Given the description of an element on the screen output the (x, y) to click on. 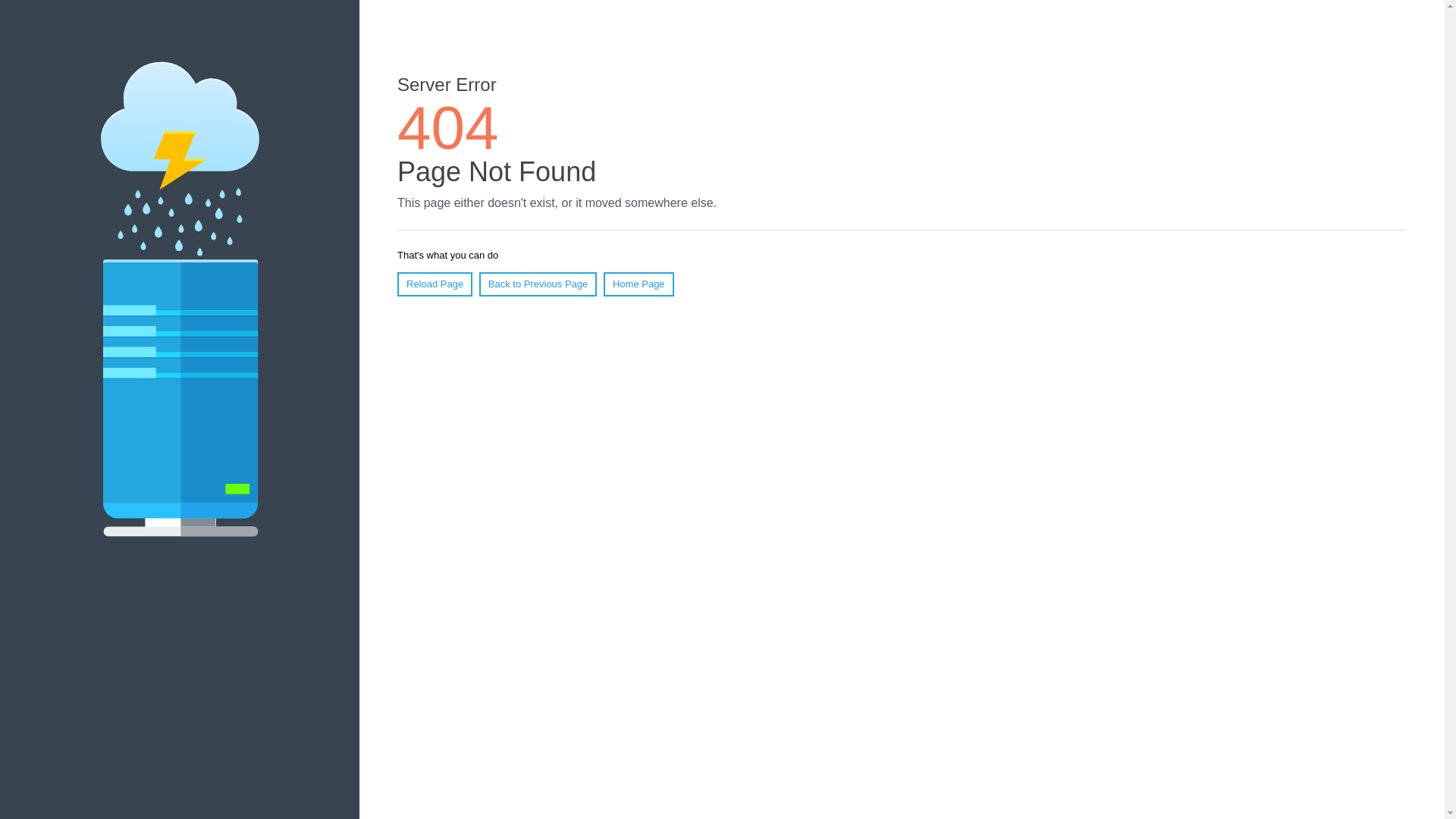
Home Page Element type: text (638, 284)
Back to Previous Page Element type: text (538, 284)
Reload Page Element type: text (434, 284)
